Given the description of an element on the screen output the (x, y) to click on. 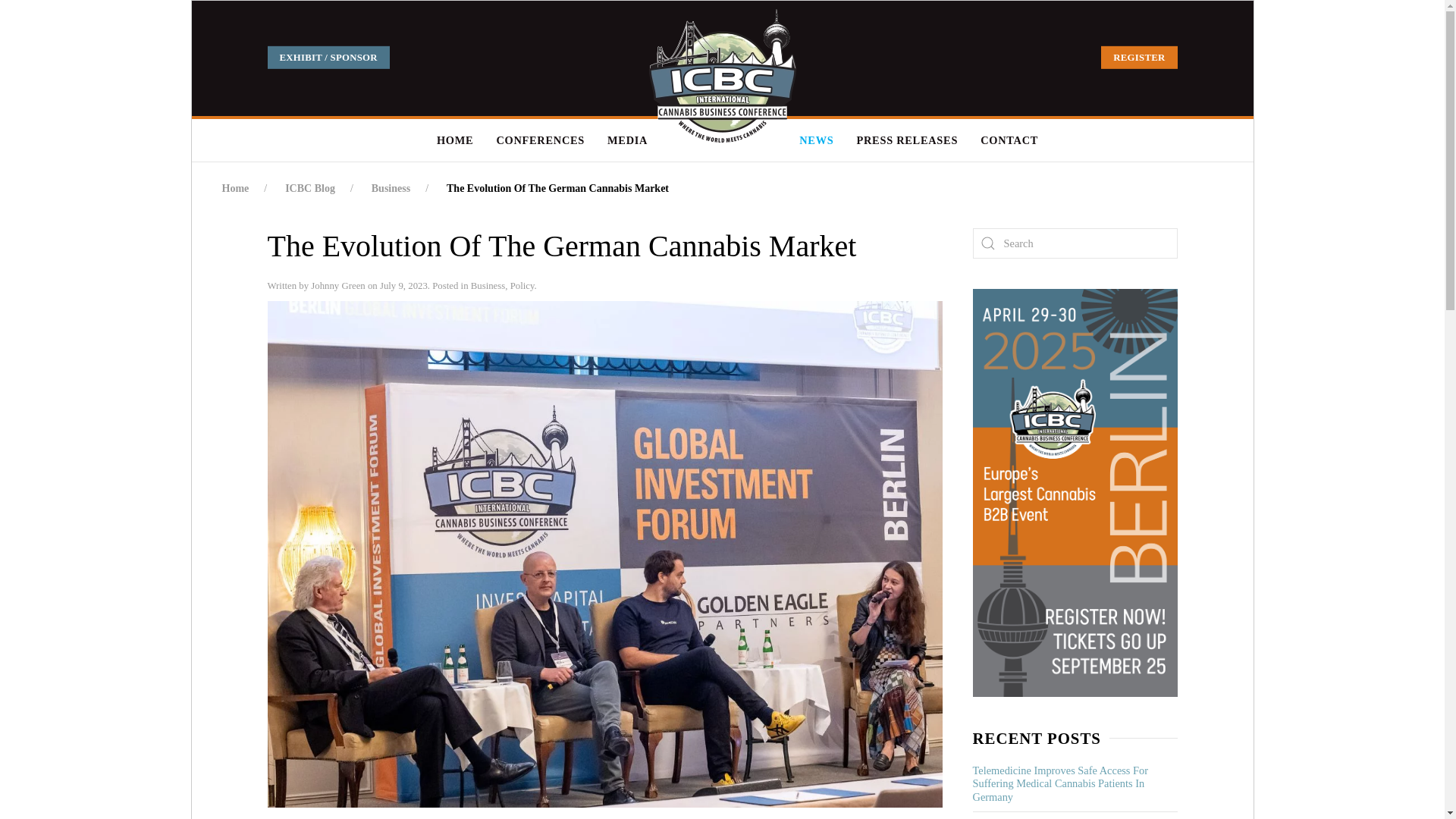
CONFERENCES (540, 139)
MEDIA (627, 139)
REGISTER (1138, 56)
